Given the description of an element on the screen output the (x, y) to click on. 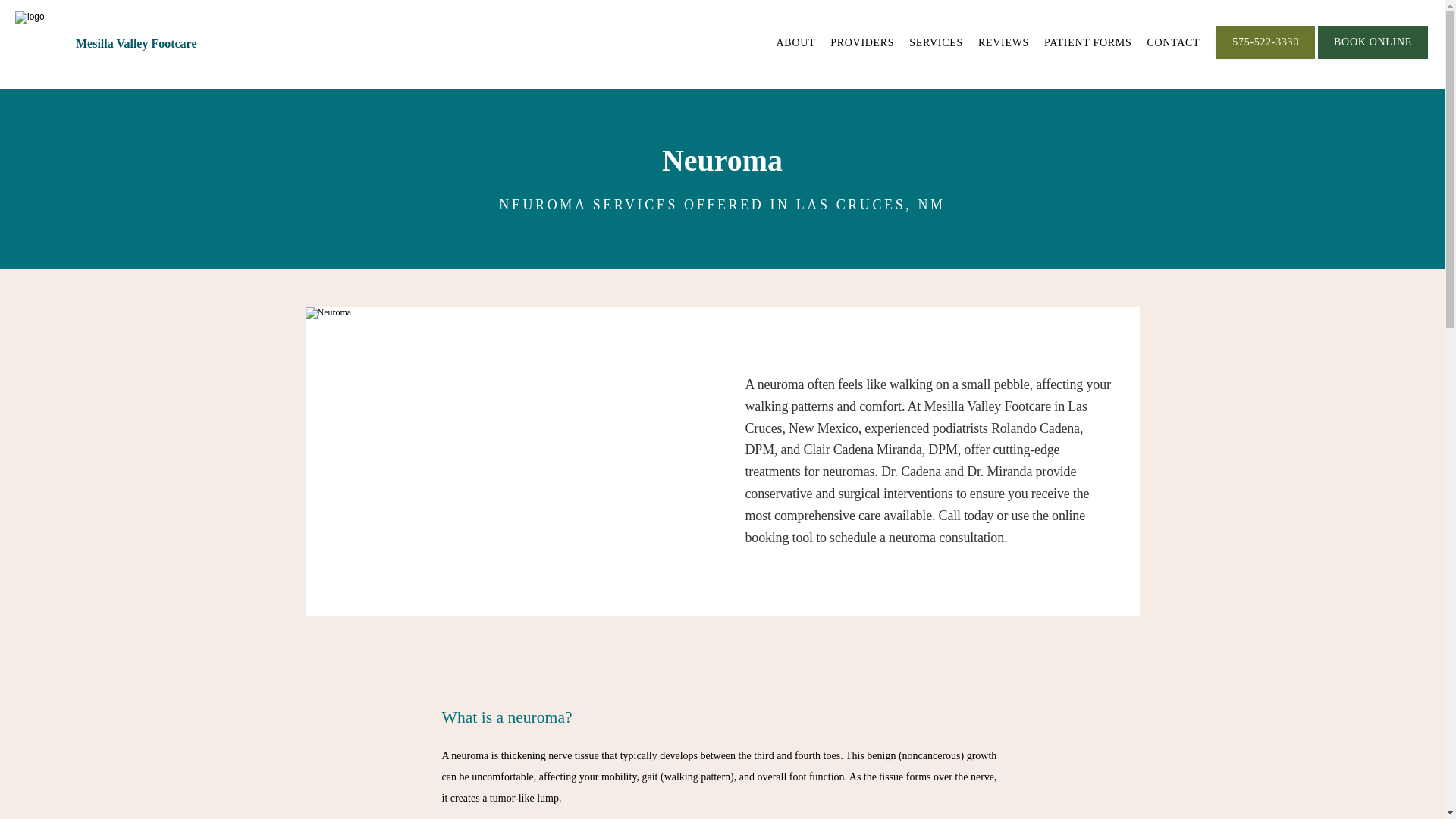
CONTACT (1173, 42)
BOOK ONLINE (1372, 57)
575-522-3330 (1265, 57)
ABOUT (795, 42)
PATIENT FORMS (1087, 42)
PROVIDERS (861, 42)
REVIEWS (1003, 42)
Mesilla Valley Footcare (135, 43)
SERVICES (935, 42)
